Given the description of an element on the screen output the (x, y) to click on. 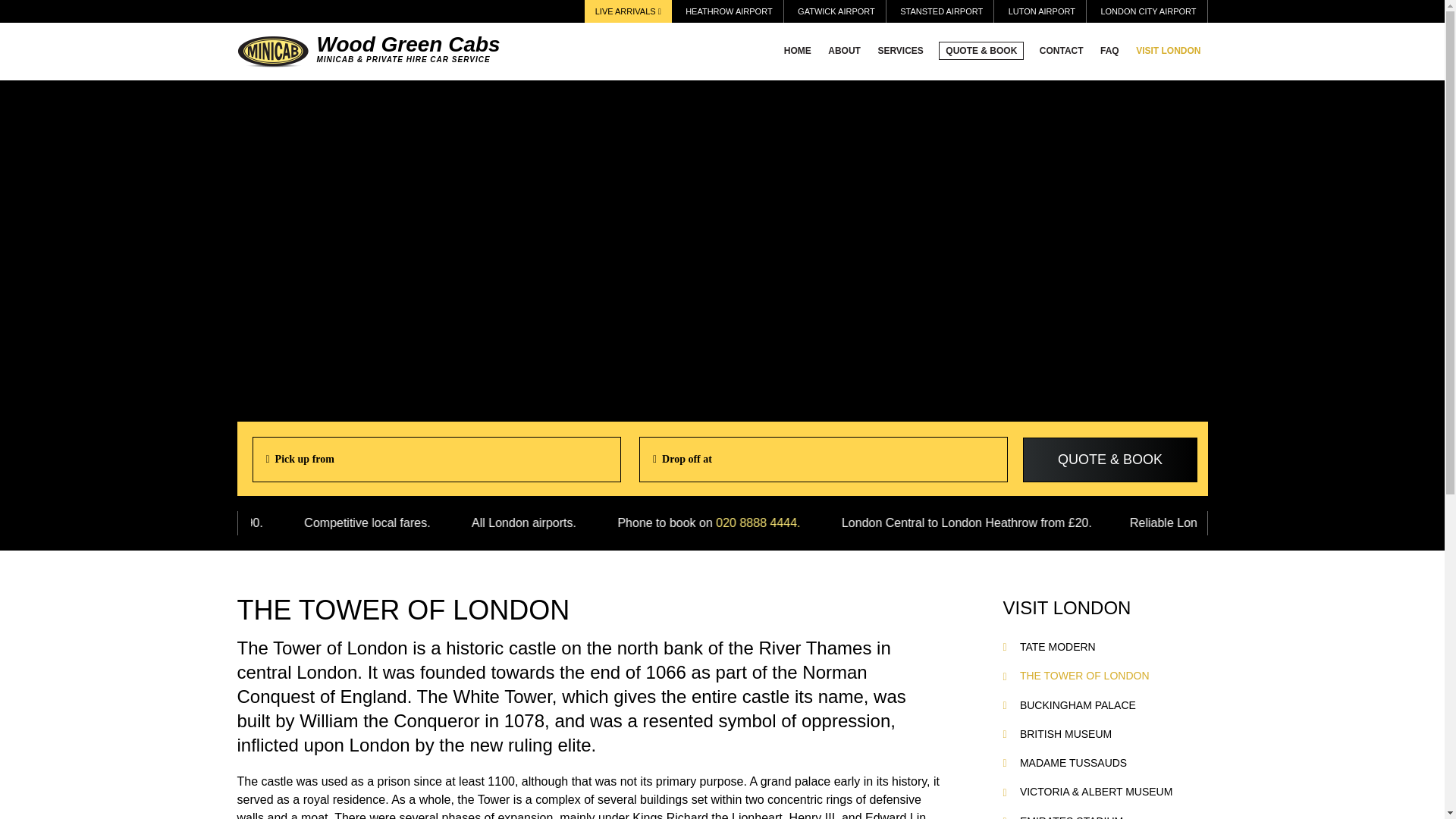
SERVICES (900, 49)
BUCKINGHAM PALACE (1077, 705)
GATWICK AIRPORT (836, 10)
HEATHROW AIRPORT (729, 10)
FAQ (1109, 49)
MADAME TUSSAUDS (1073, 762)
CONTACT (1061, 49)
EMIRATES STADIUM (1071, 816)
HOME (797, 49)
TATE MODERN (1058, 646)
ABOUT (844, 49)
British Museum (1066, 734)
Tate Modern (1058, 646)
LONDON CITY AIRPORT (1147, 10)
Wood Green Cabs (271, 51)
